Given the description of an element on the screen output the (x, y) to click on. 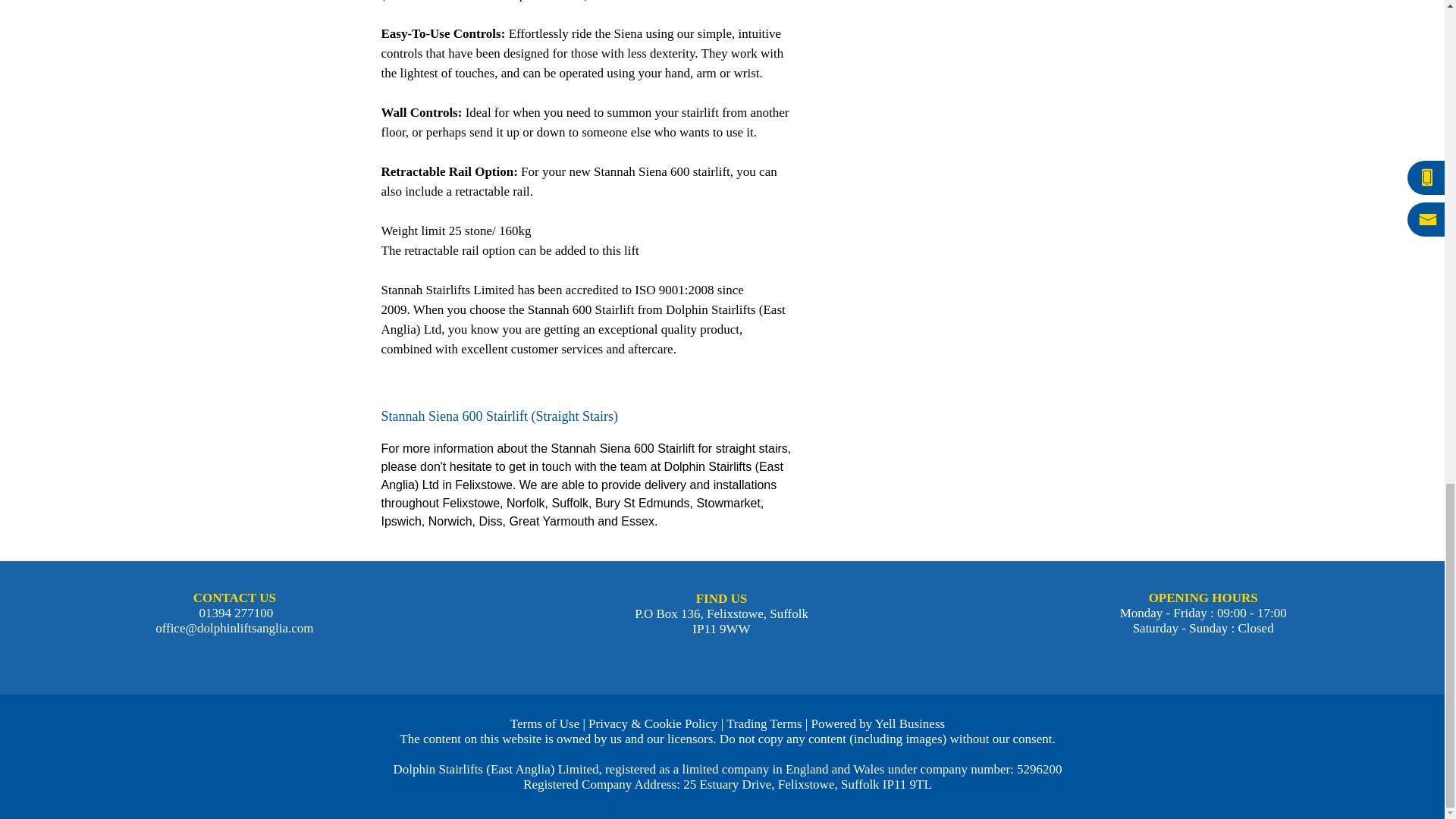
 01394 277100 (234, 612)
Terms of Use (545, 723)
